Given the description of an element on the screen output the (x, y) to click on. 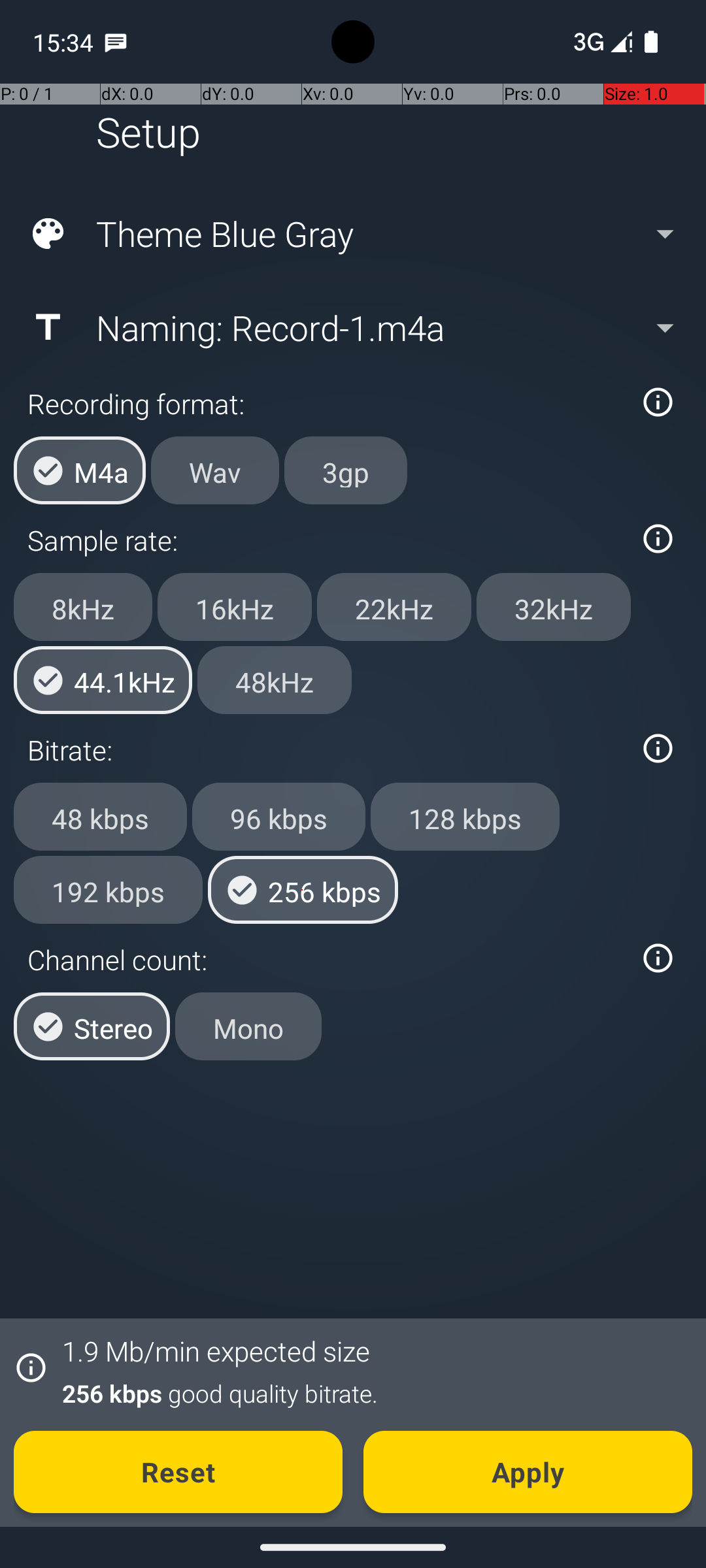
1.9 Mb/min expected size Element type: android.widget.TextView (215, 1350)
256 kbps good quality bitrate. Element type: android.widget.TextView (370, 1392)
Phone three bars. Element type: android.widget.FrameLayout (600, 41)
